Given the description of an element on the screen output the (x, y) to click on. 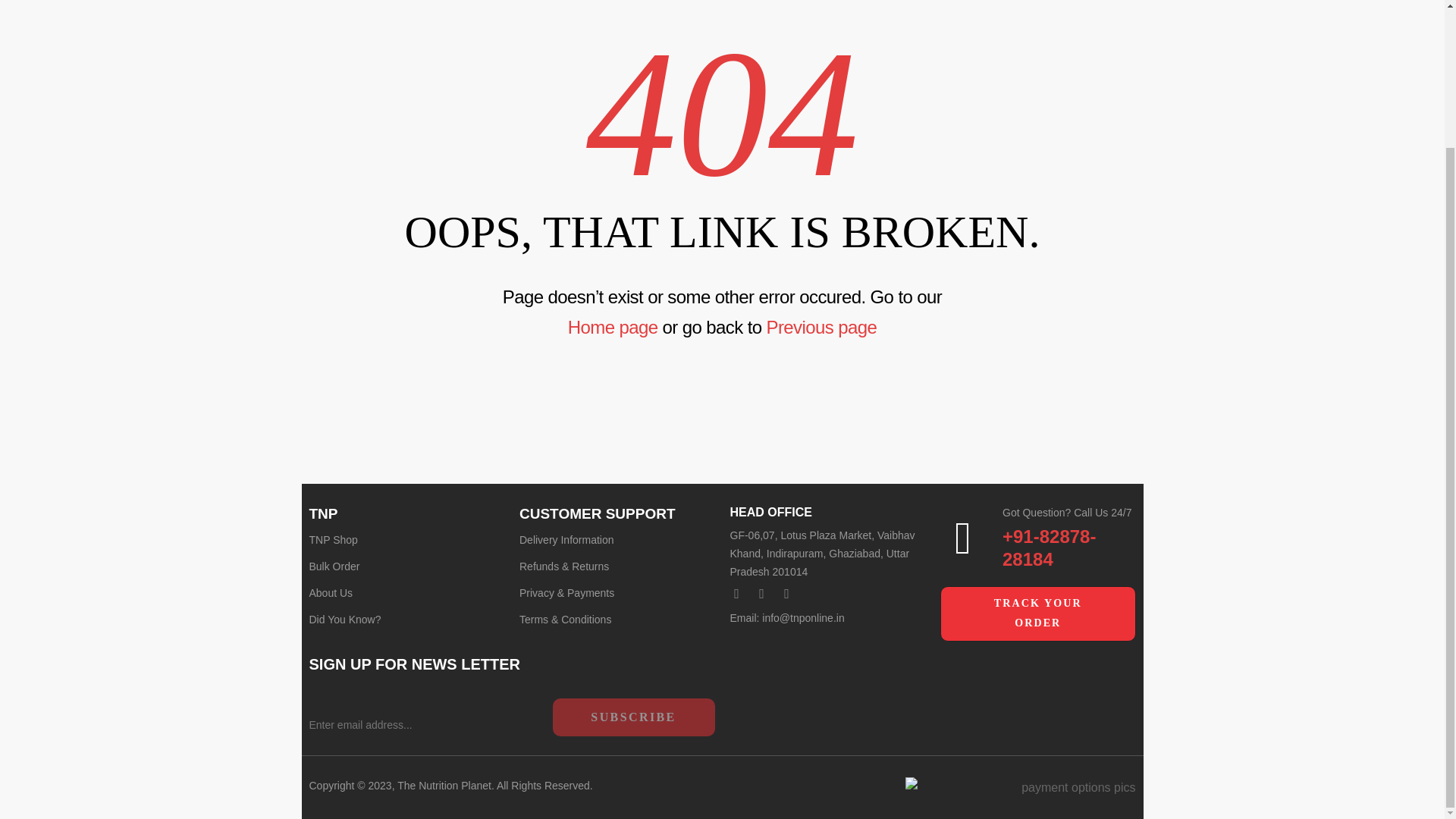
Previous page (822, 326)
Bulk Order (406, 566)
About Us (406, 592)
TNP Shop (406, 539)
Home page (612, 326)
